Given the description of an element on the screen output the (x, y) to click on. 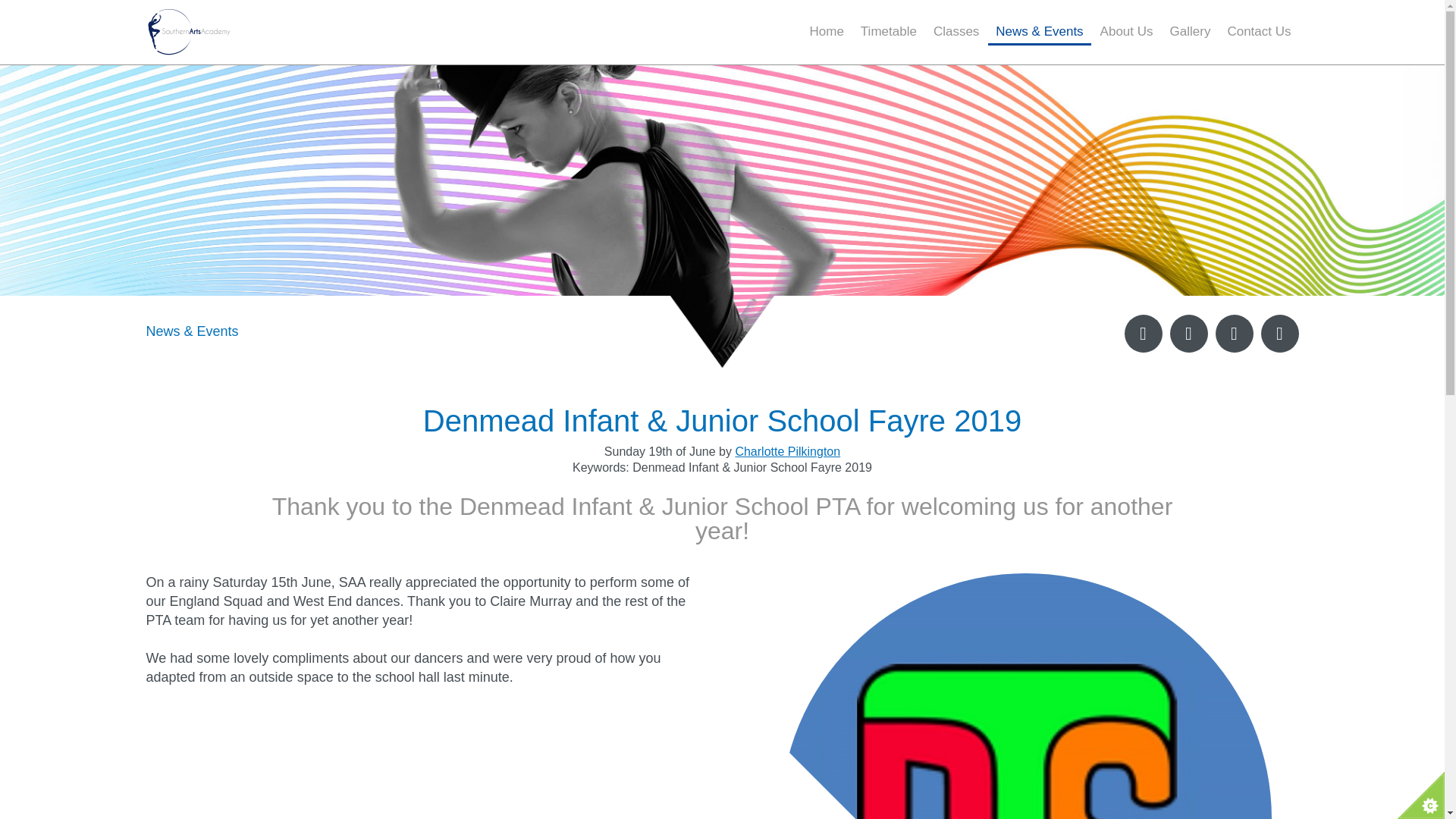
Classes (956, 26)
Timetable (888, 26)
Back to the homepage... (243, 31)
Home (826, 26)
Timetable (888, 26)
Home (826, 26)
